Given the description of an element on the screen output the (x, y) to click on. 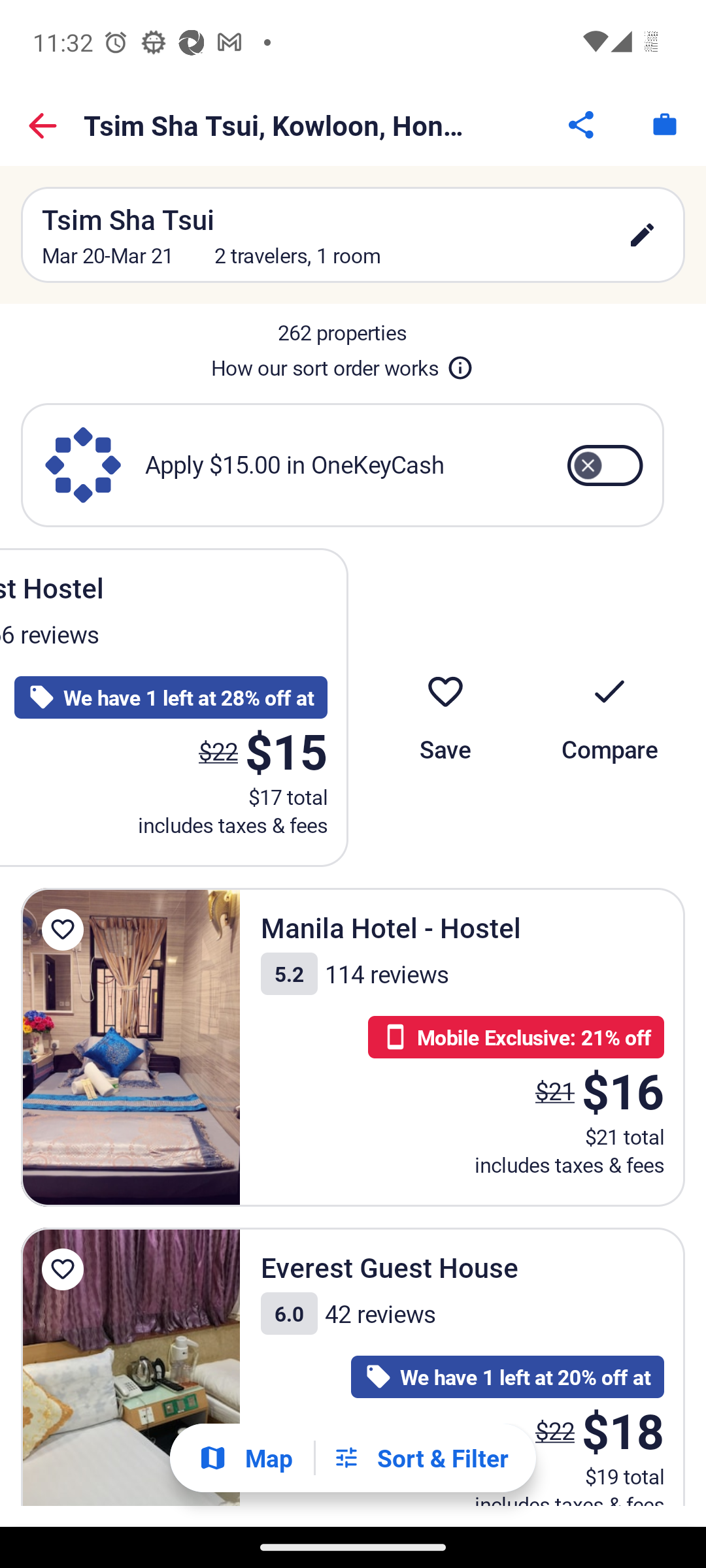
Share Button (582, 124)
Trips. Button (664, 124)
How our sort order works (342, 364)
Save (444, 707)
Compare (608, 707)
$22 The price was $22 (218, 750)
Manila Hotel - Hostel (130, 1047)
Save Manila Hotel - Hostel to a trip (62, 929)
$21 The price was $21 (554, 1091)
Everest Guest House (130, 1366)
Save Everest Guest House to a trip (62, 1268)
$22 The price was $22 (554, 1430)
Filters Sort & Filter Filters Button (420, 1457)
Show map Map Show map Button (244, 1456)
